Given the description of an element on the screen output the (x, y) to click on. 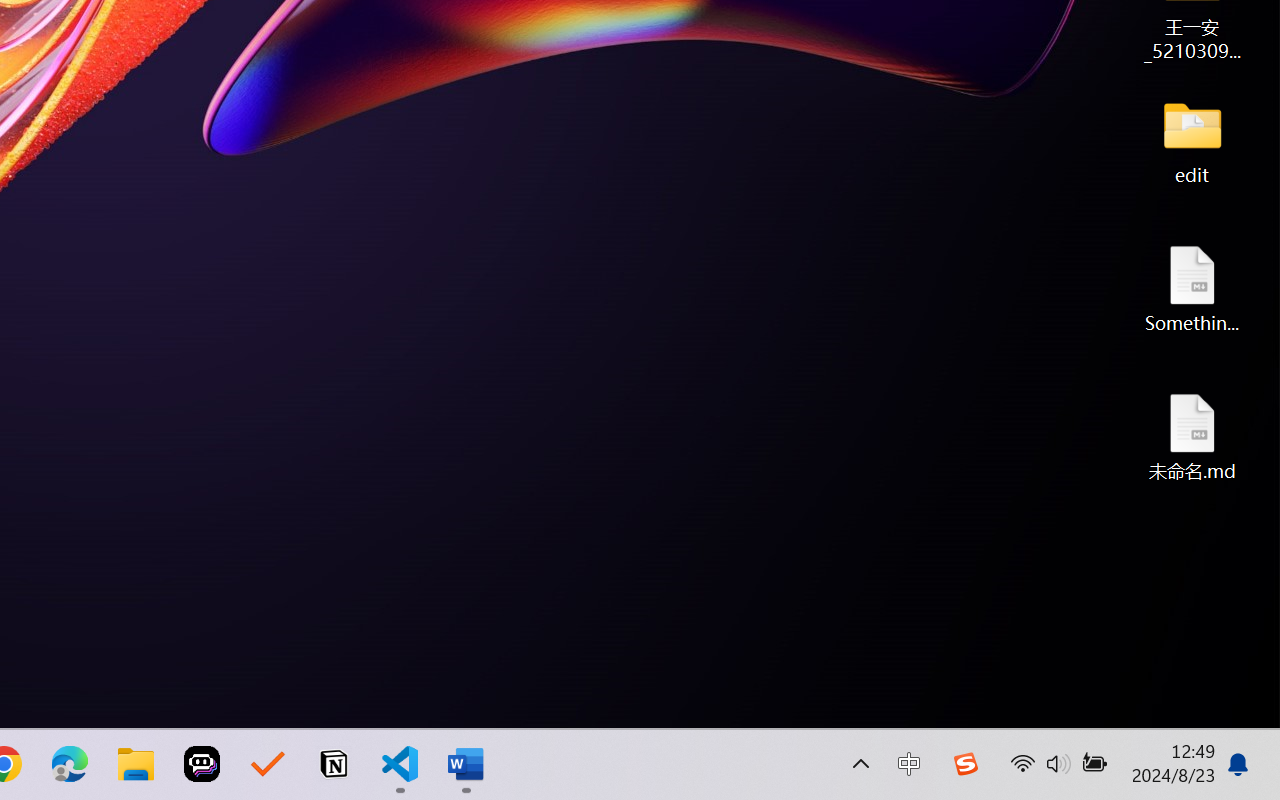
edit (1192, 140)
